Given the description of an element on the screen output the (x, y) to click on. 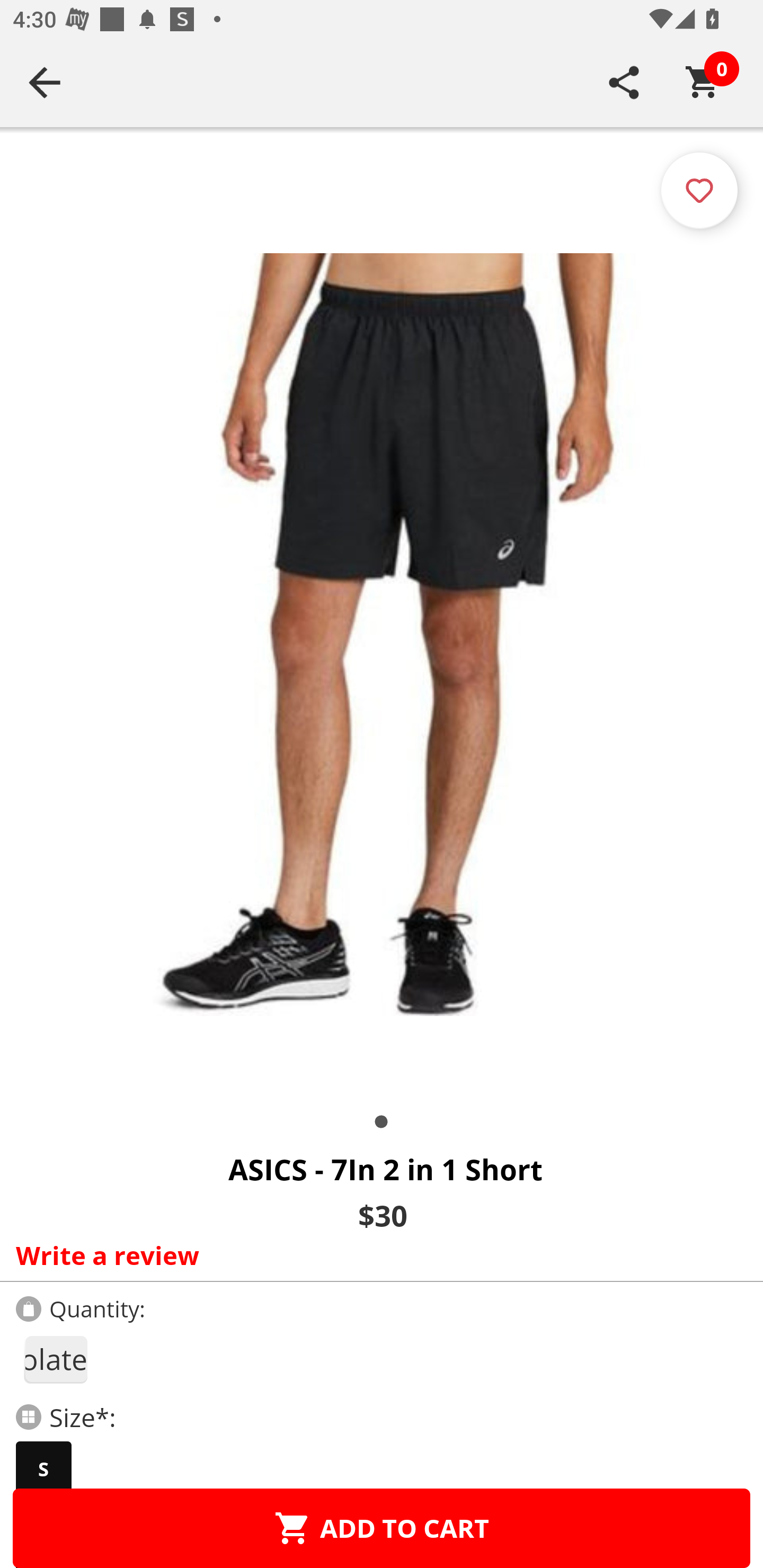
Navigate up (44, 82)
SHARE (623, 82)
Cart (703, 81)
Write a review (377, 1255)
1chocolate (55, 1358)
S (43, 1468)
ADD TO CART (381, 1528)
